Given the description of an element on the screen output the (x, y) to click on. 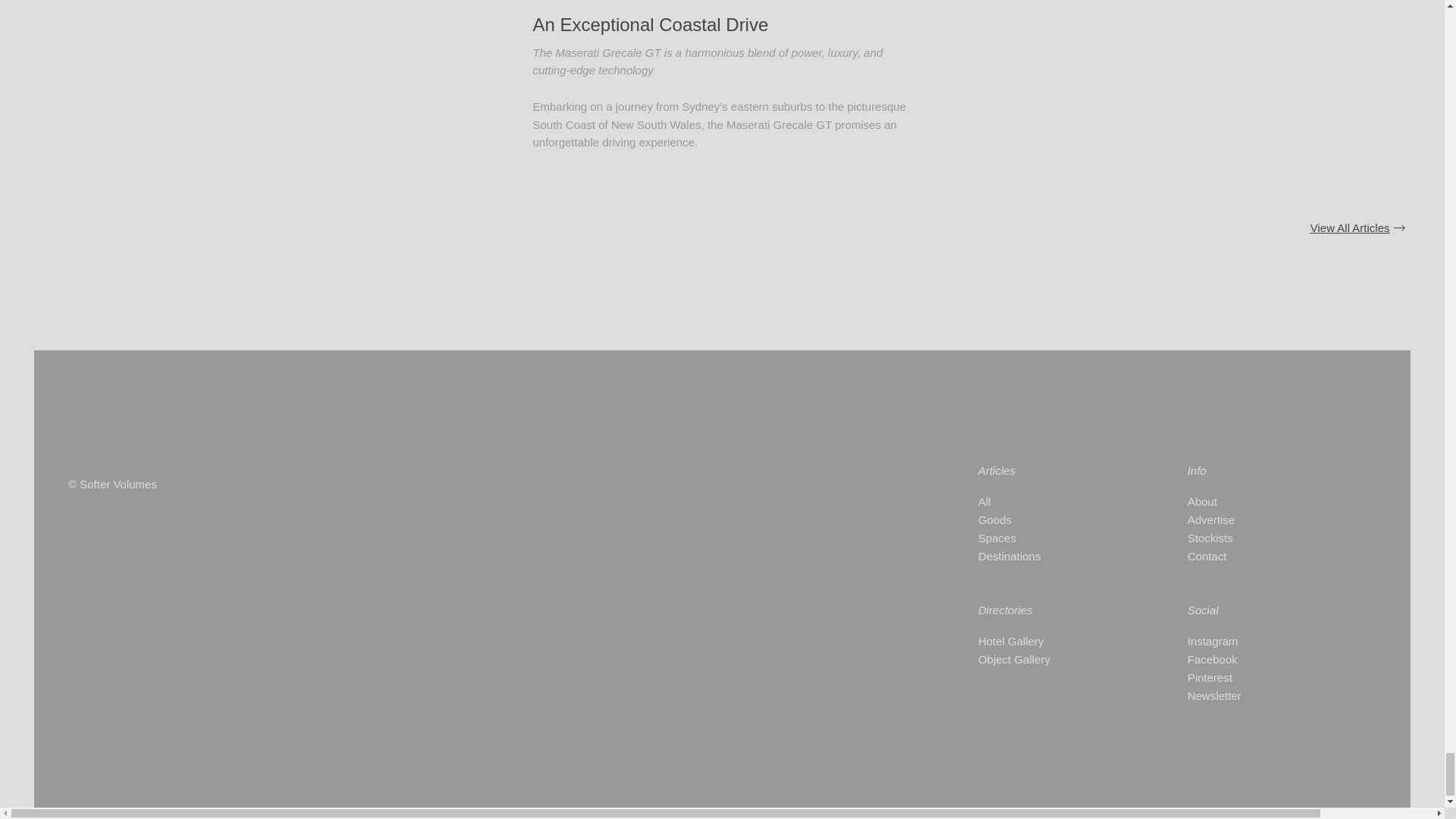
Object Gallery (1056, 659)
Stockists (1262, 538)
Goods (1056, 520)
Hotel Gallery (1056, 641)
View All Articles (1357, 228)
About (1262, 502)
An Exceptional Coastal Drive (650, 24)
Spaces (1056, 538)
Advertise (1262, 520)
